Given the description of an element on the screen output the (x, y) to click on. 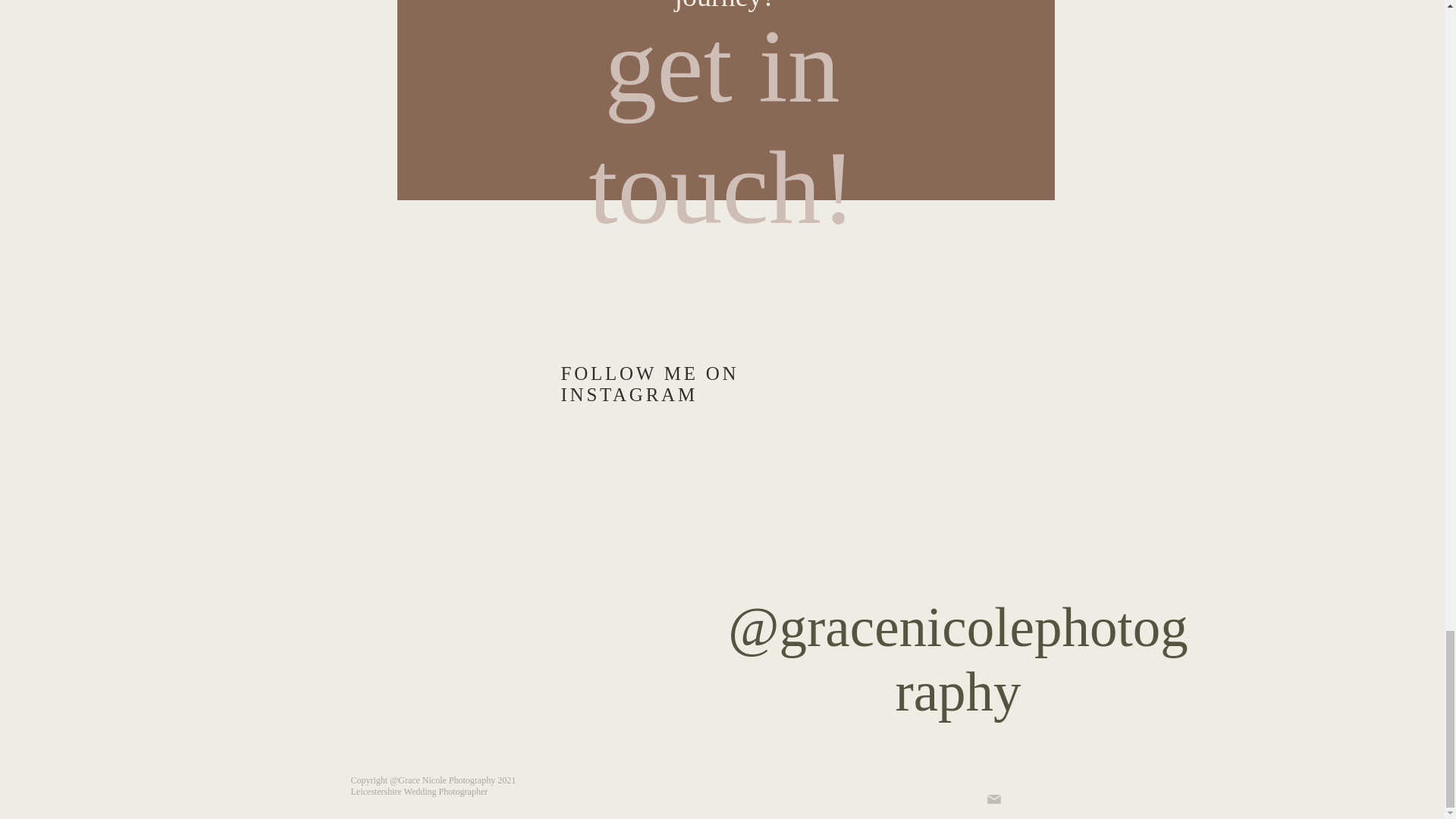
get in touch! (722, 125)
Say Hello (722, 254)
